Given the description of an element on the screen output the (x, y) to click on. 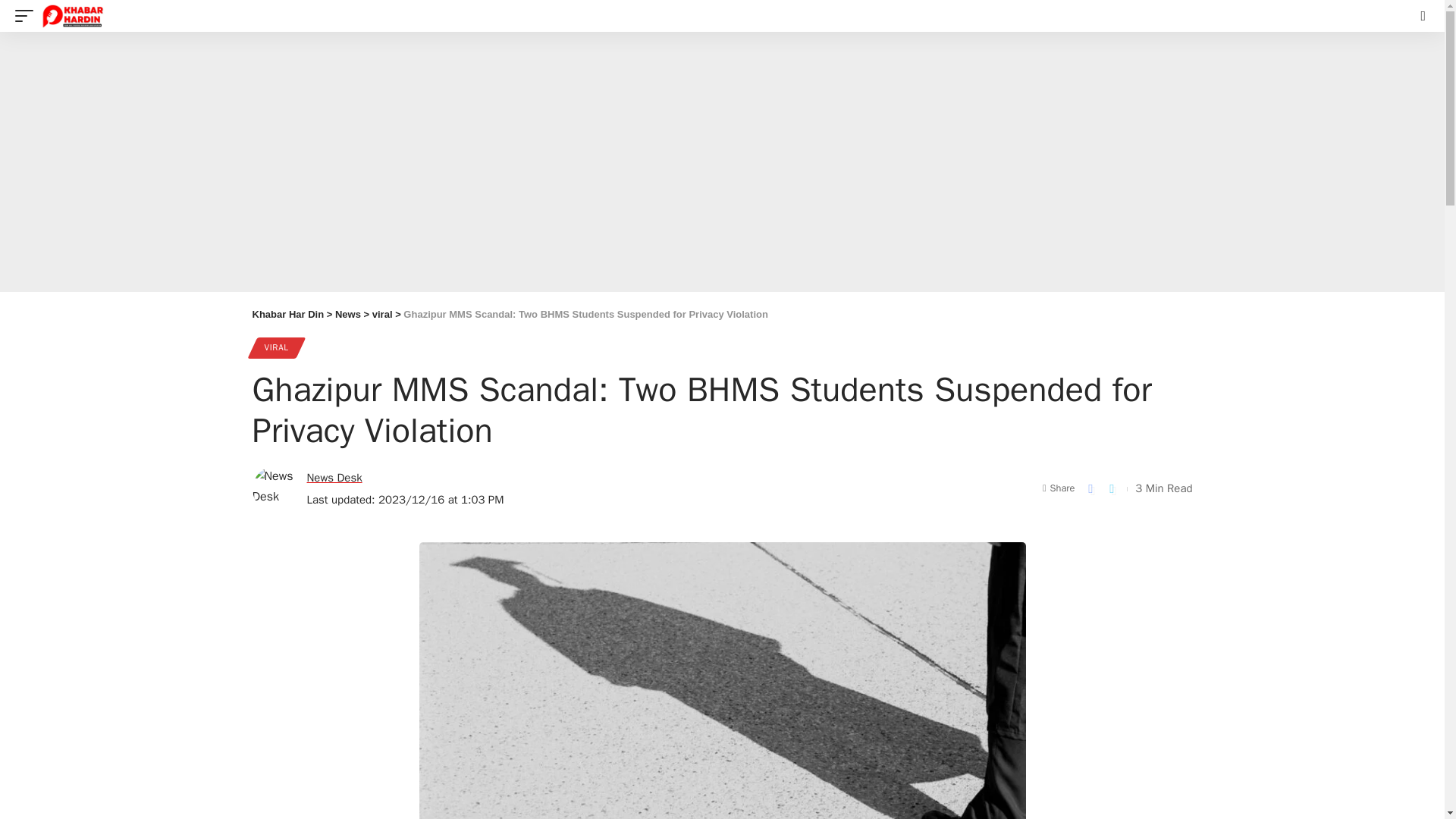
Khabar Har Din (287, 314)
Go to the News Category archives. (347, 314)
VIRAL (275, 346)
viral (382, 314)
Search (1403, 82)
News Desk (333, 477)
Go to Khabar Har Din. (287, 314)
Khabar Har Din (72, 15)
